Given the description of an element on the screen output the (x, y) to click on. 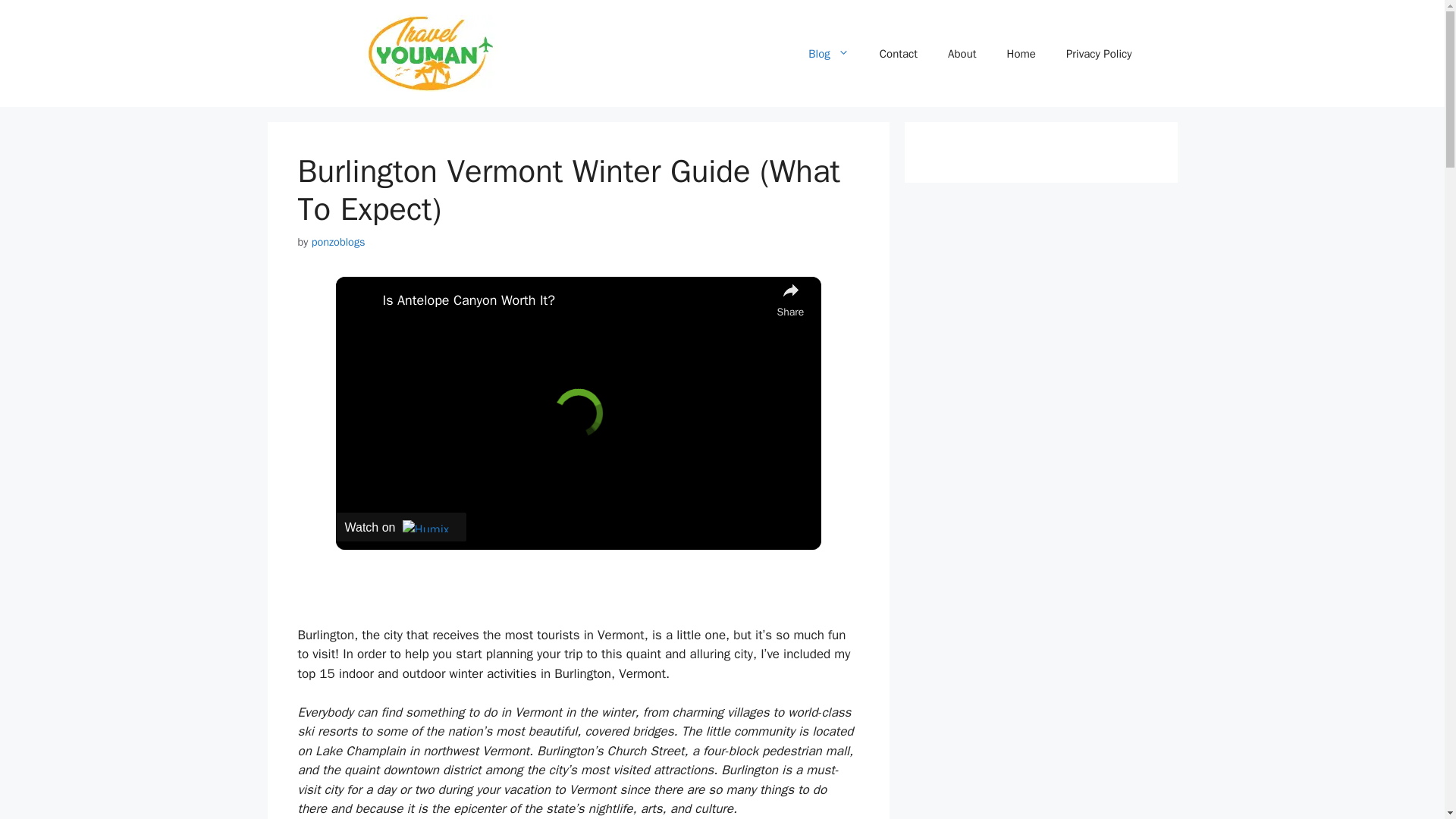
About (962, 53)
Is Antelope Canyon Worth It? (574, 300)
View all posts by ponzoblogs (338, 241)
Blog (828, 53)
Watch on (399, 526)
Home (1021, 53)
Contact (898, 53)
Privacy Policy (1099, 53)
ponzoblogs (338, 241)
